Given the description of an element on the screen output the (x, y) to click on. 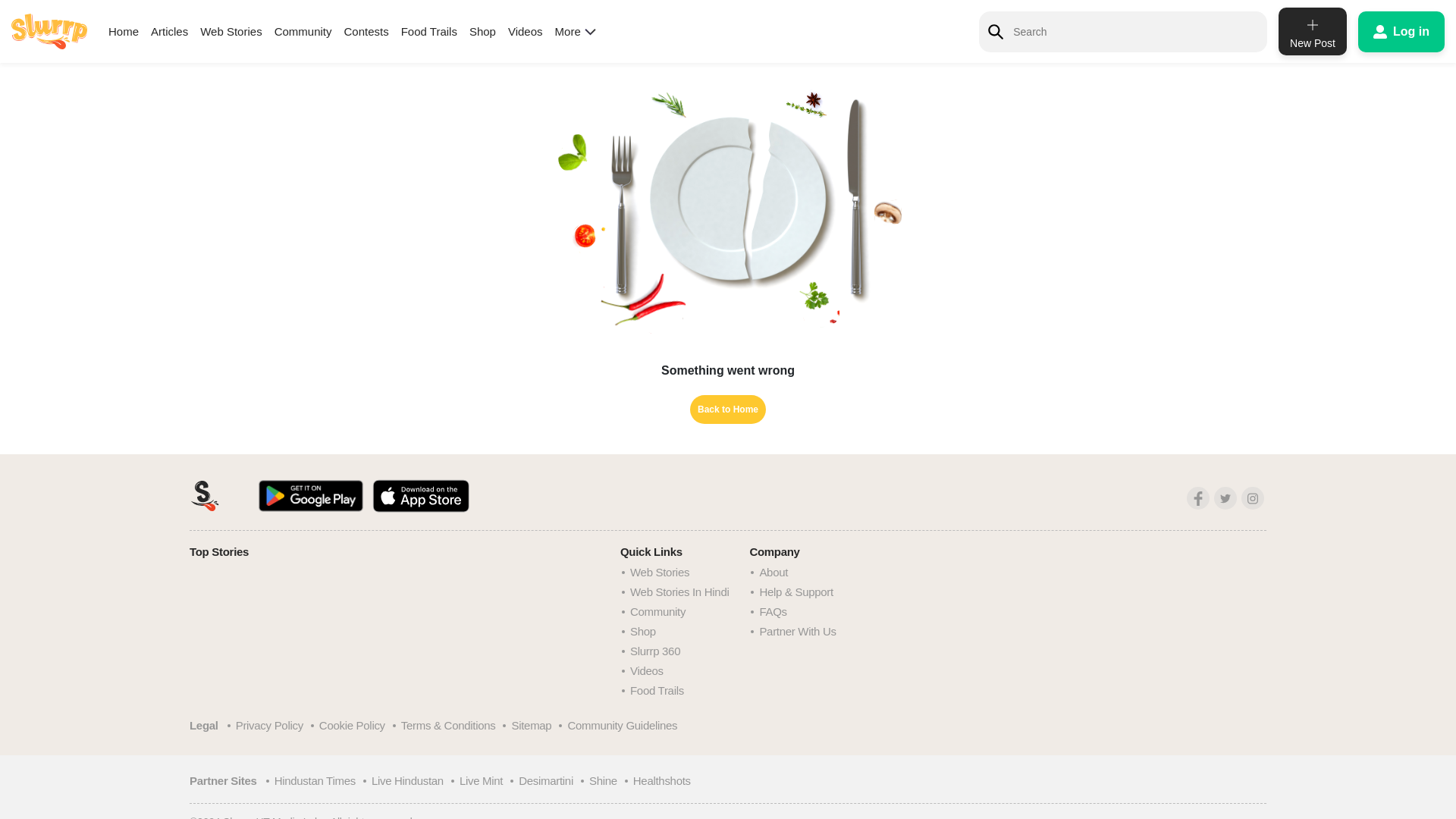
New Post (1312, 31)
Community (303, 31)
Web Stories (231, 31)
Shop (482, 31)
Contests (365, 31)
Articles (169, 31)
Back to Home (727, 409)
user login (1401, 30)
Home (122, 31)
Log in (1401, 30)
Videos (525, 31)
Food Trails (429, 31)
